Given the description of an element on the screen output the (x, y) to click on. 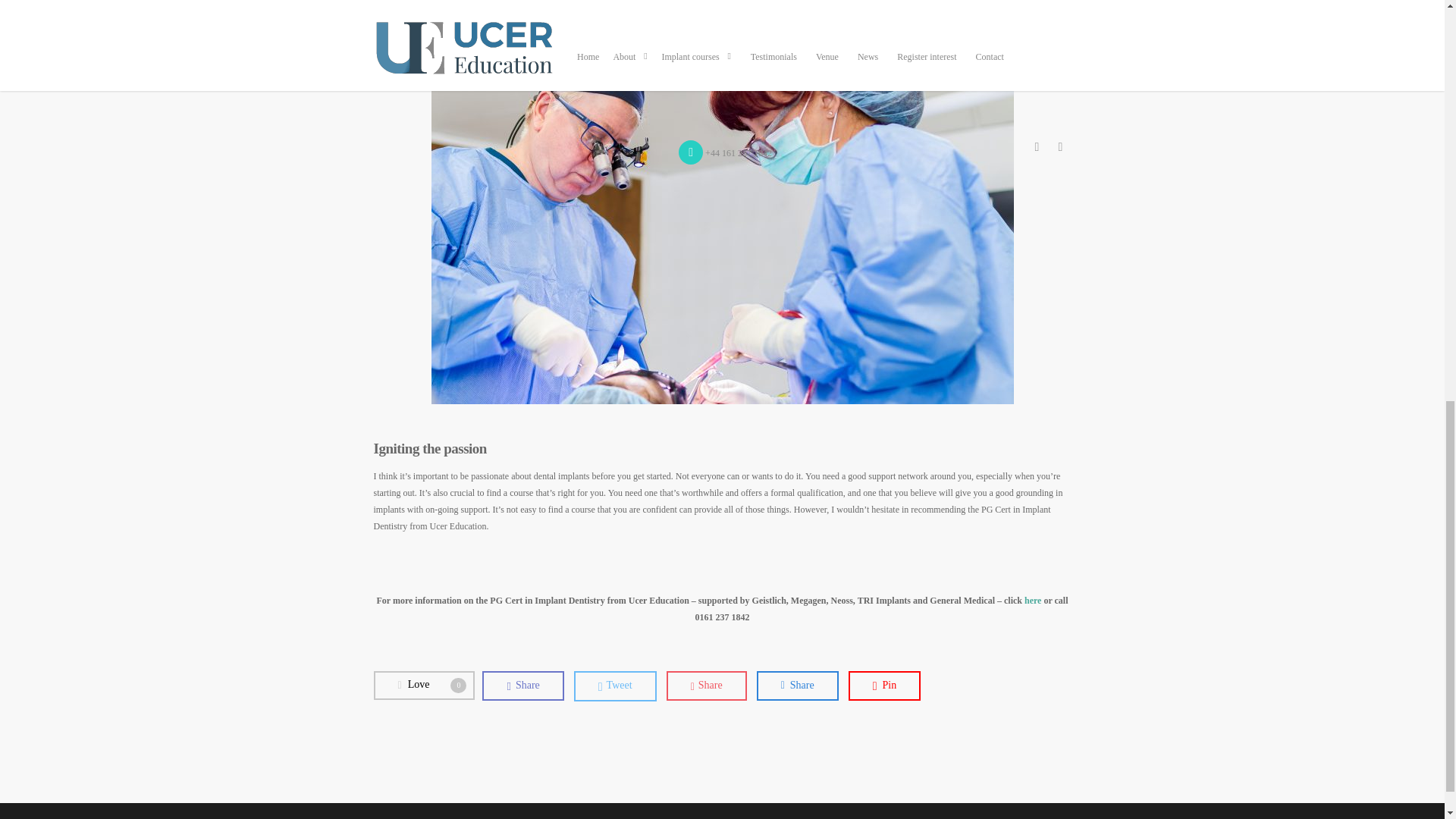
Share this (706, 685)
Share (423, 685)
Love this (522, 685)
Tweet this (423, 685)
Pin this (614, 685)
Share (884, 685)
Share (797, 685)
Pin (706, 685)
Tweet (884, 685)
